Given the description of an element on the screen output the (x, y) to click on. 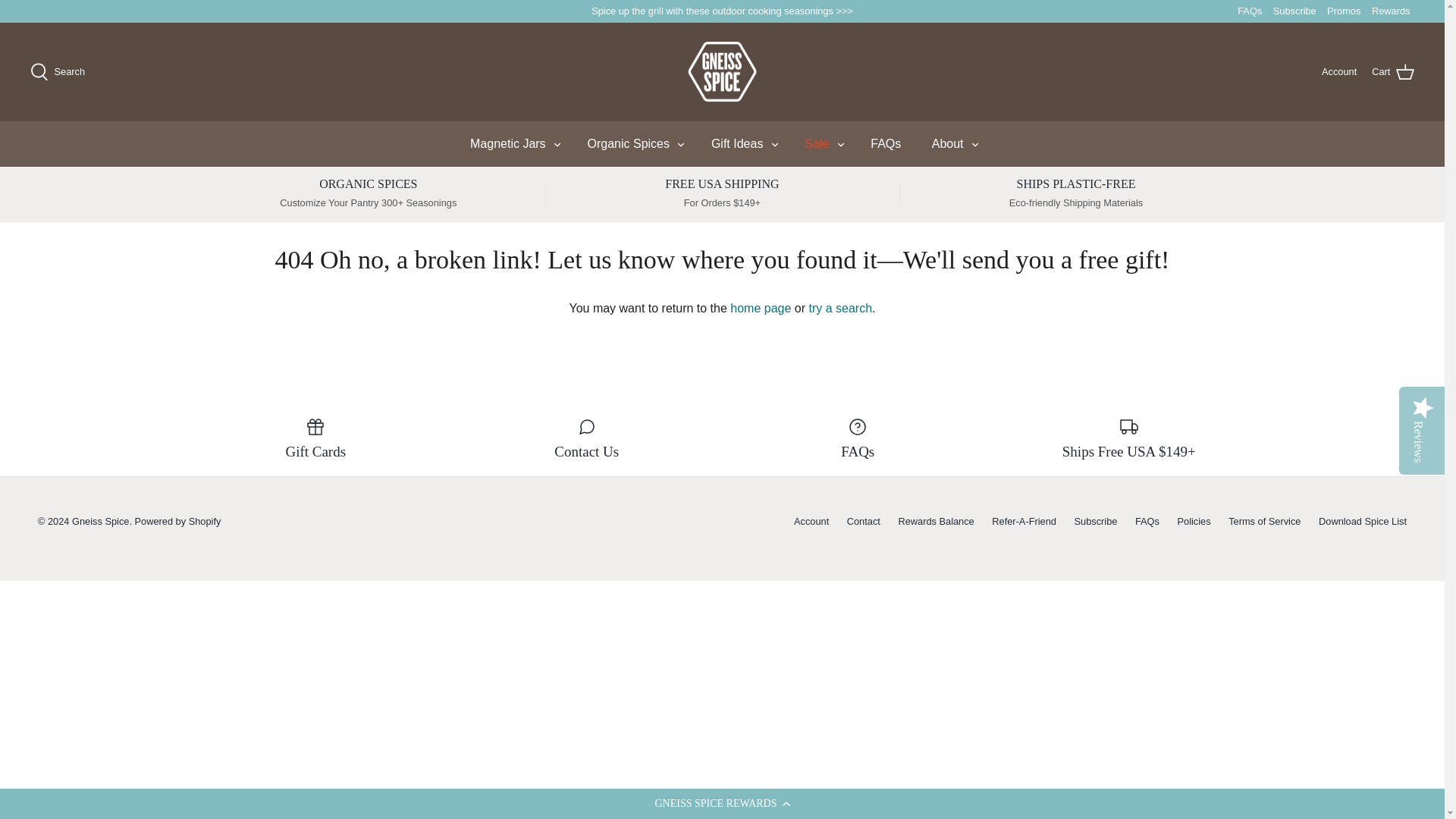
Magnetic Jars (508, 144)
Toggle menu (680, 144)
Toggle menu (556, 144)
Toggle menu (556, 143)
Search (57, 71)
Cart (1392, 71)
Toggle menu (974, 144)
Gneiss Spice (721, 71)
Toggle menu (840, 144)
FAQs (1249, 11)
Subscribe (1294, 11)
Promos (1342, 11)
Account (1339, 71)
Rewards (1390, 11)
Toggle menu (775, 144)
